Given the description of an element on the screen output the (x, y) to click on. 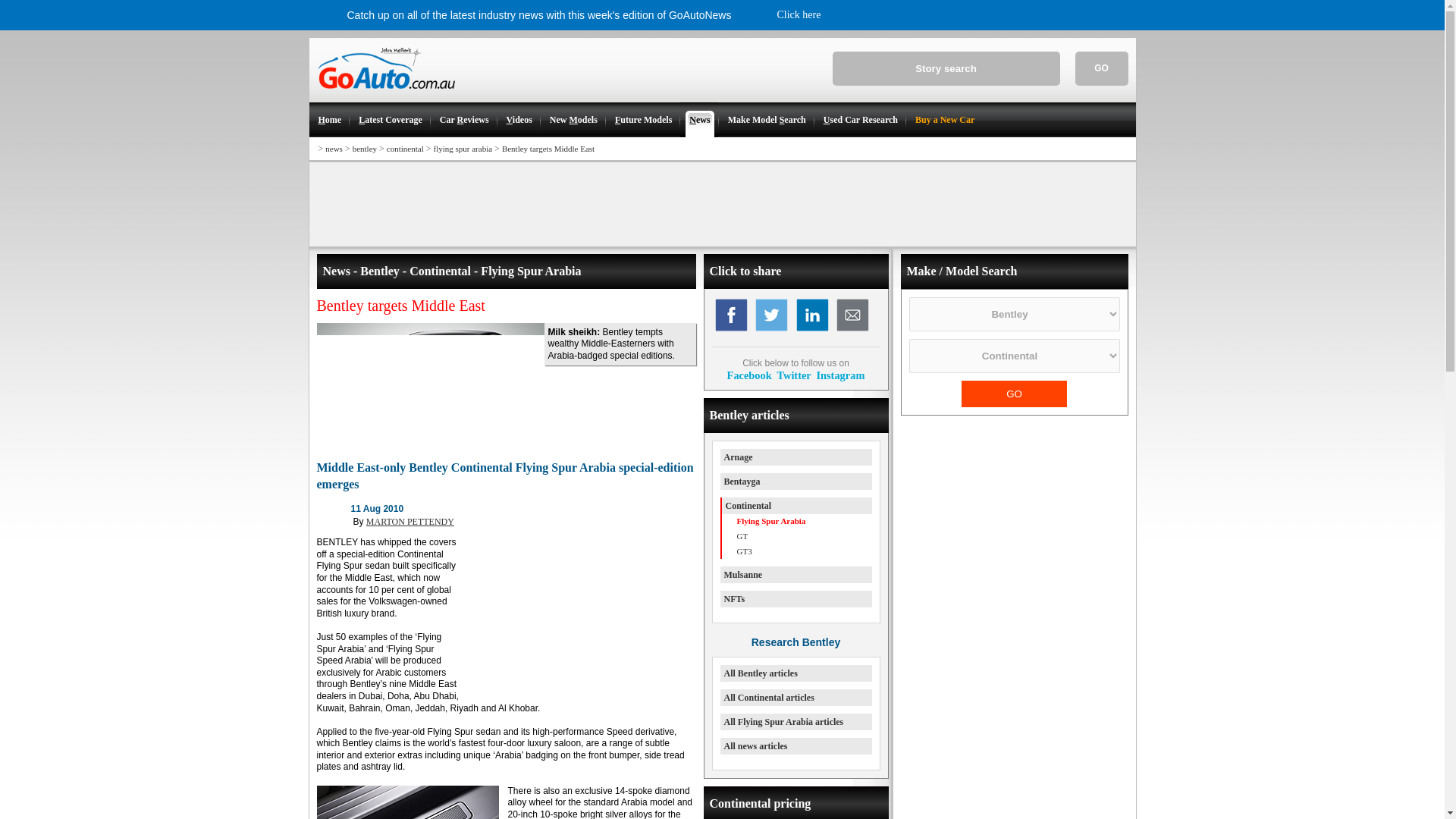
news (333, 148)
Buy a New Car (943, 119)
New Models (572, 119)
Twitter (793, 375)
Videos (518, 119)
bentley logo (333, 517)
flying spur arabia (463, 148)
